Given the description of an element on the screen output the (x, y) to click on. 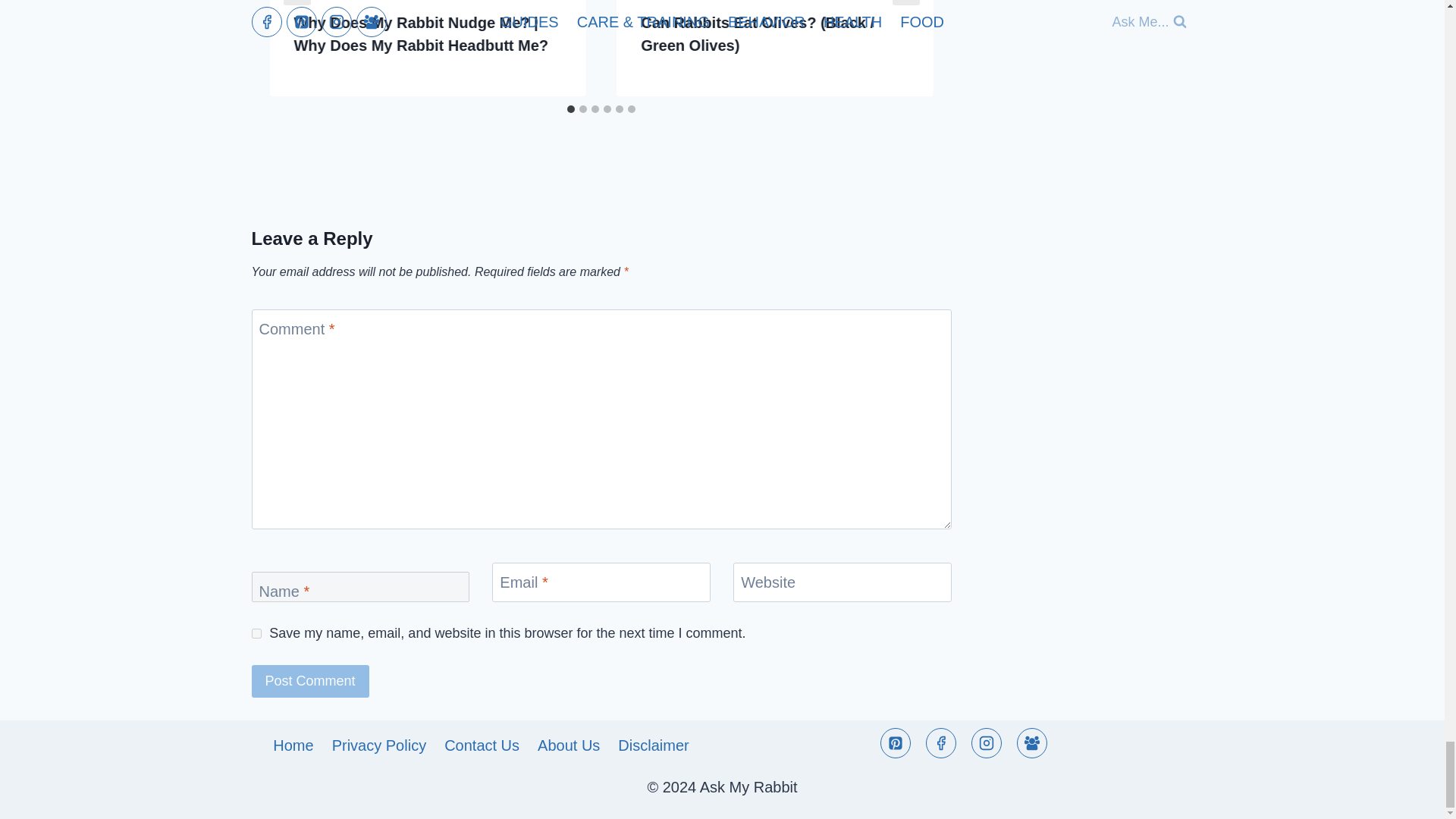
Post Comment (310, 681)
yes (256, 633)
